Given the description of an element on the screen output the (x, y) to click on. 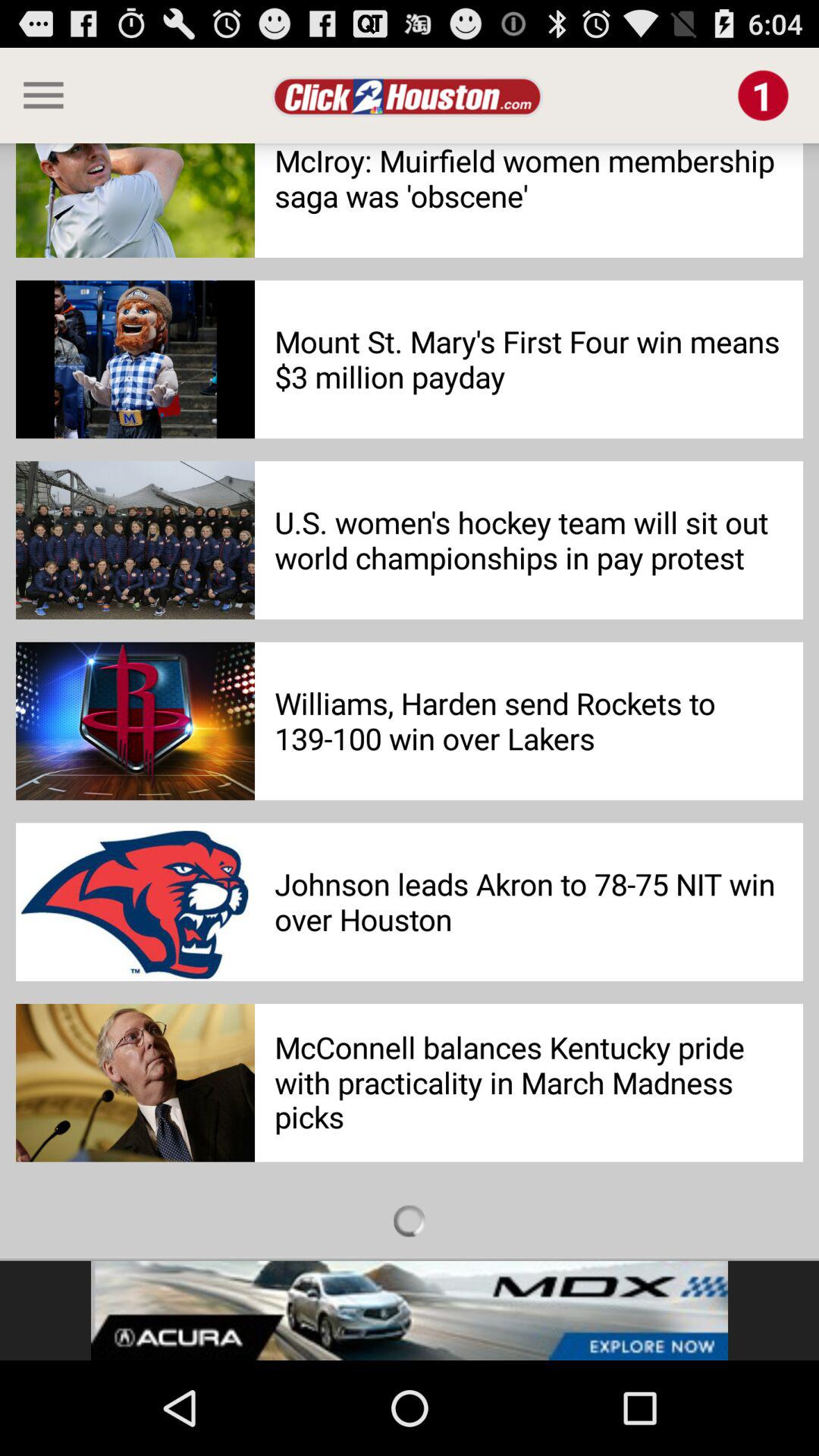
click on the first image beside mclroy (134, 199)
click on the last second image (134, 901)
click on the last image at the left side of the page (134, 1082)
